Given the description of an element on the screen output the (x, y) to click on. 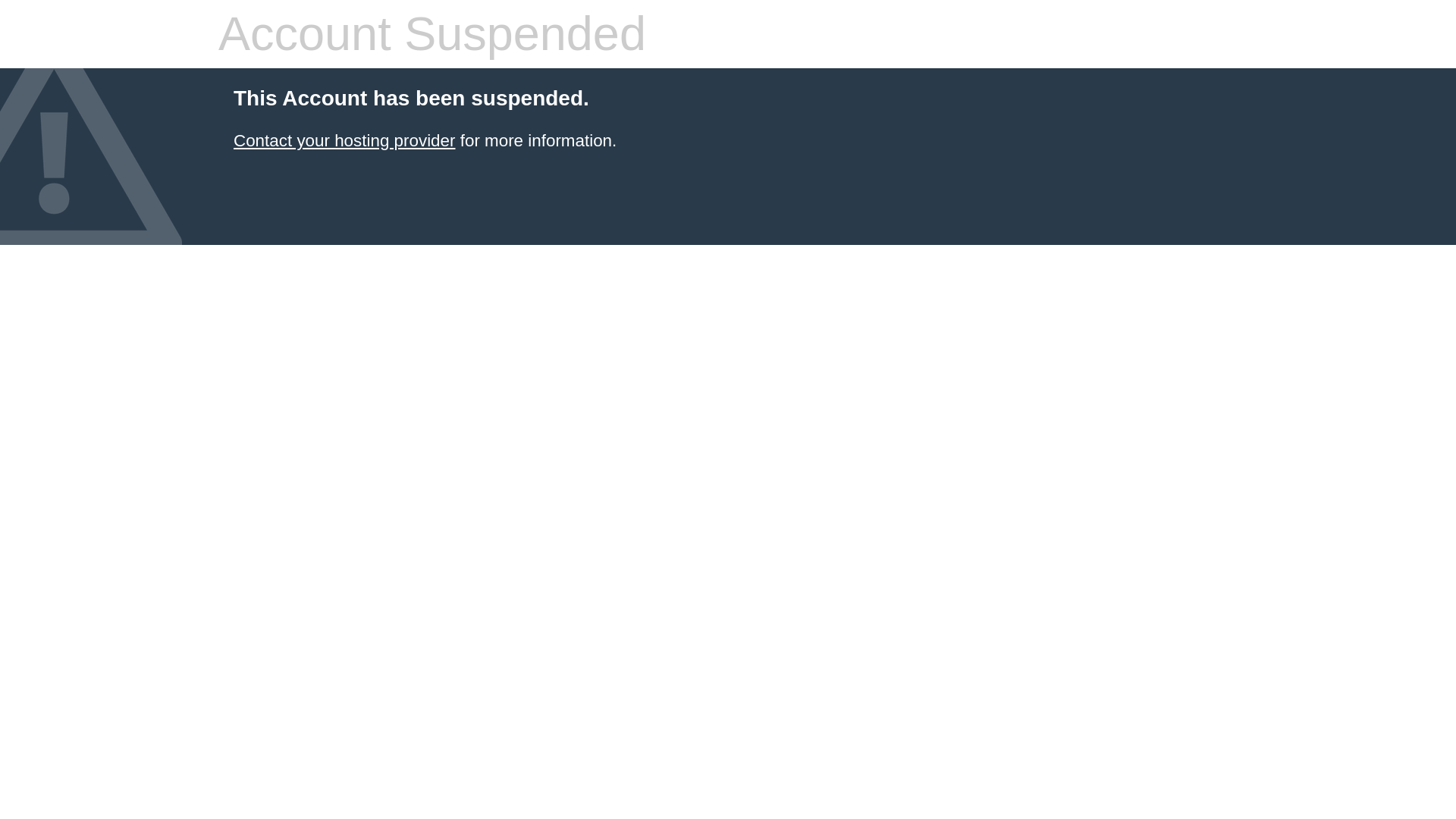
Contact your hosting provider (343, 140)
New Generation Technologies Limited (343, 140)
